Given the description of an element on the screen output the (x, y) to click on. 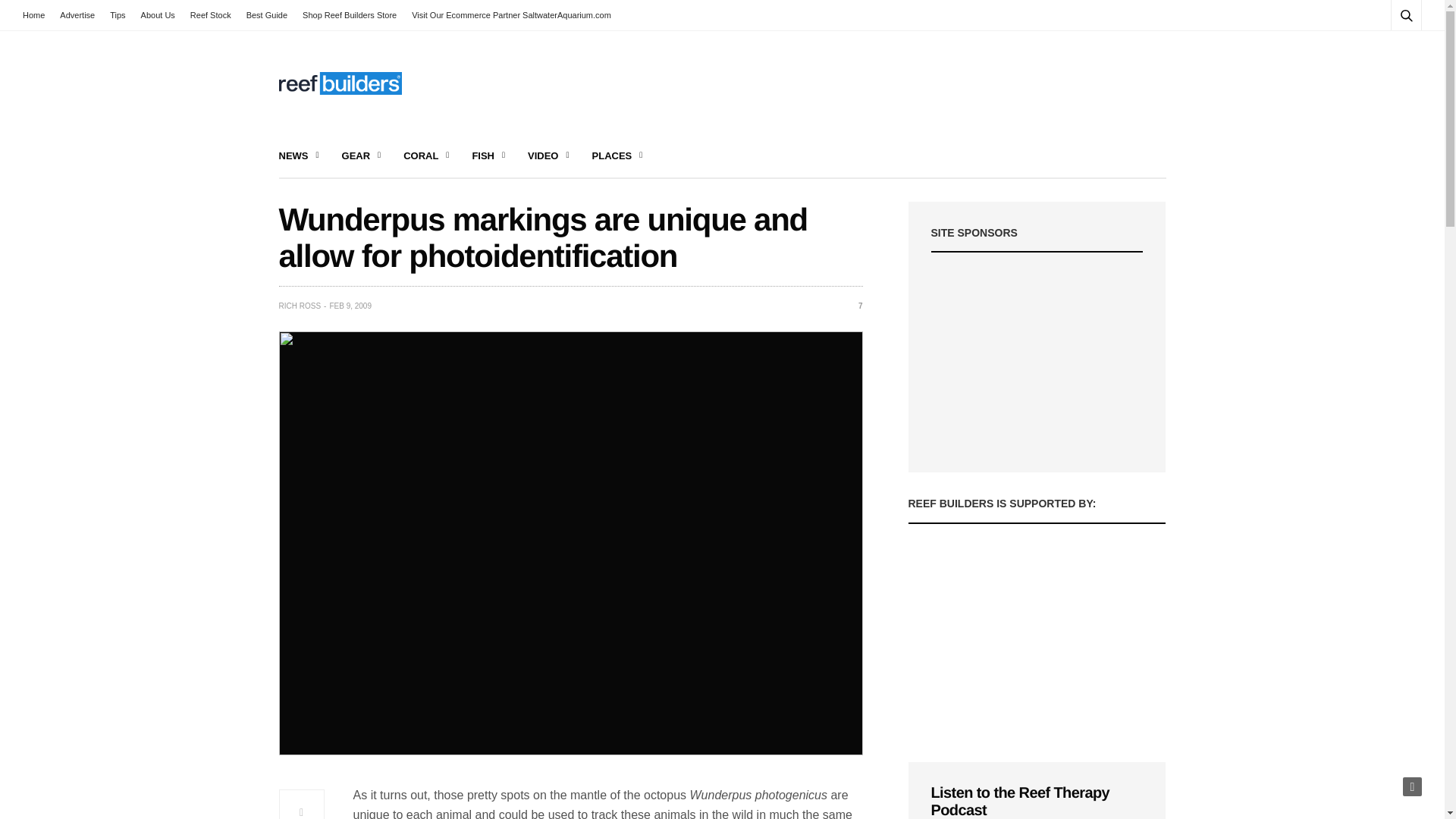
About Us (158, 15)
Reef Stock (210, 15)
Search (1386, 51)
GEAR (361, 156)
Advertise (76, 15)
Best Guide (266, 15)
Home (37, 15)
NEWS (298, 156)
Tips (116, 15)
Visit Our Ecommerce Partner SaltwaterAquarium.com (511, 15)
Shop Reef Builders Store (349, 15)
Posts by Rich Ross (300, 306)
